Given the description of an element on the screen output the (x, y) to click on. 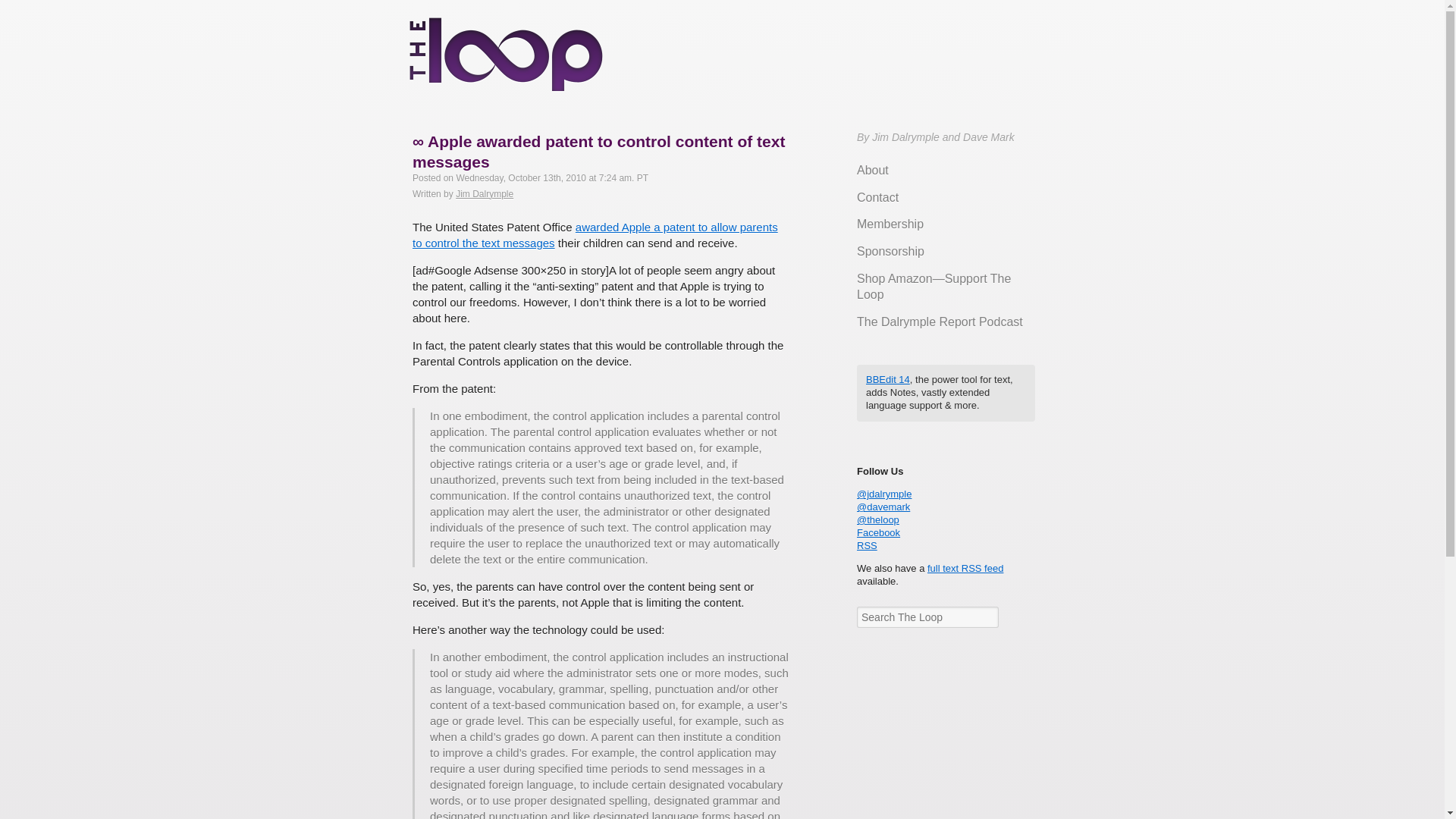
Posts by Jim Dalrymple (484, 194)
